Given the description of an element on the screen output the (x, y) to click on. 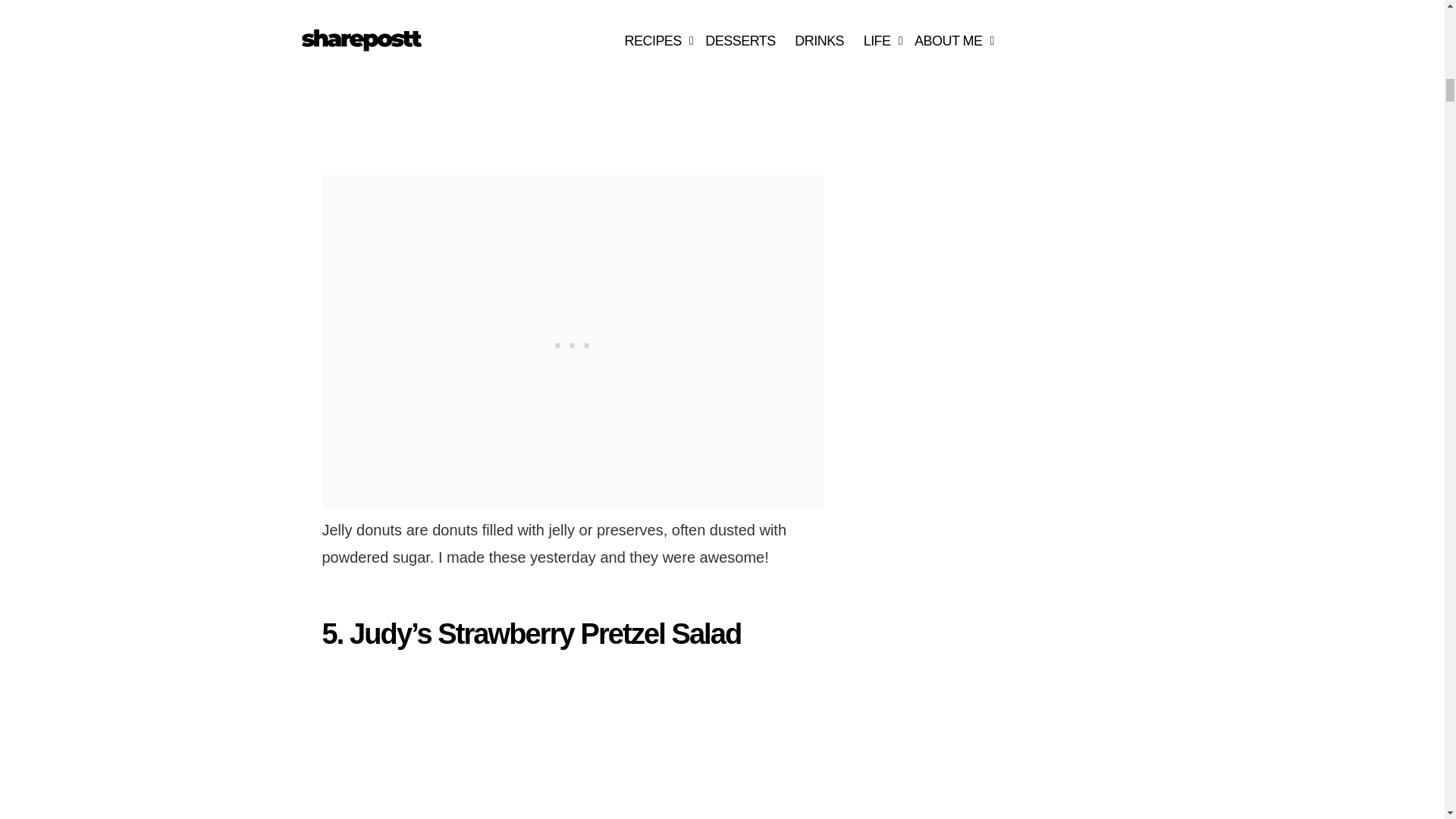
Classic Jelly Donuts (491, 75)
Judy's Strawberry Pretzel Salad (491, 743)
